Given the description of an element on the screen output the (x, y) to click on. 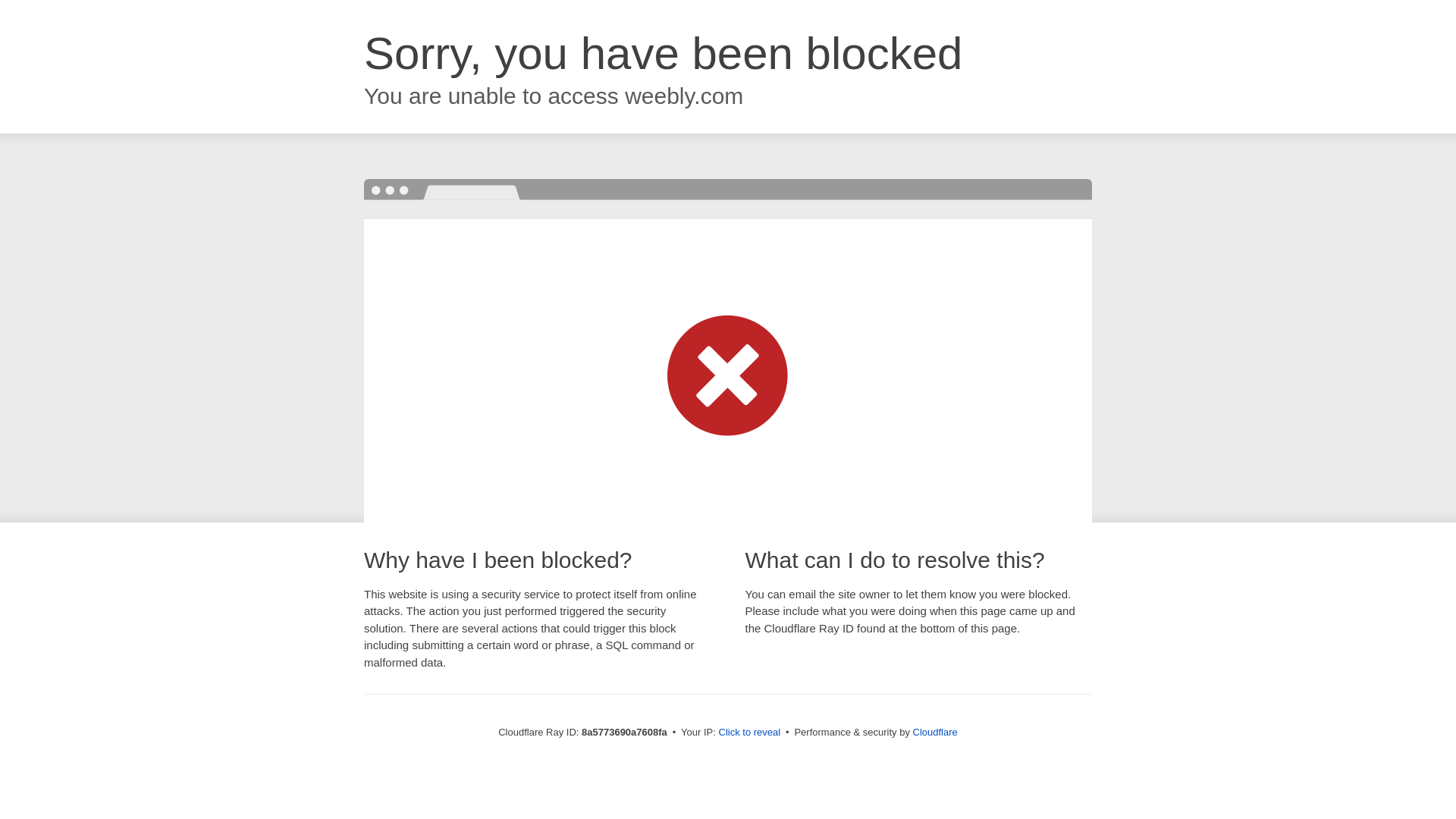
Click to reveal (749, 732)
Cloudflare (935, 731)
